Given the description of an element on the screen output the (x, y) to click on. 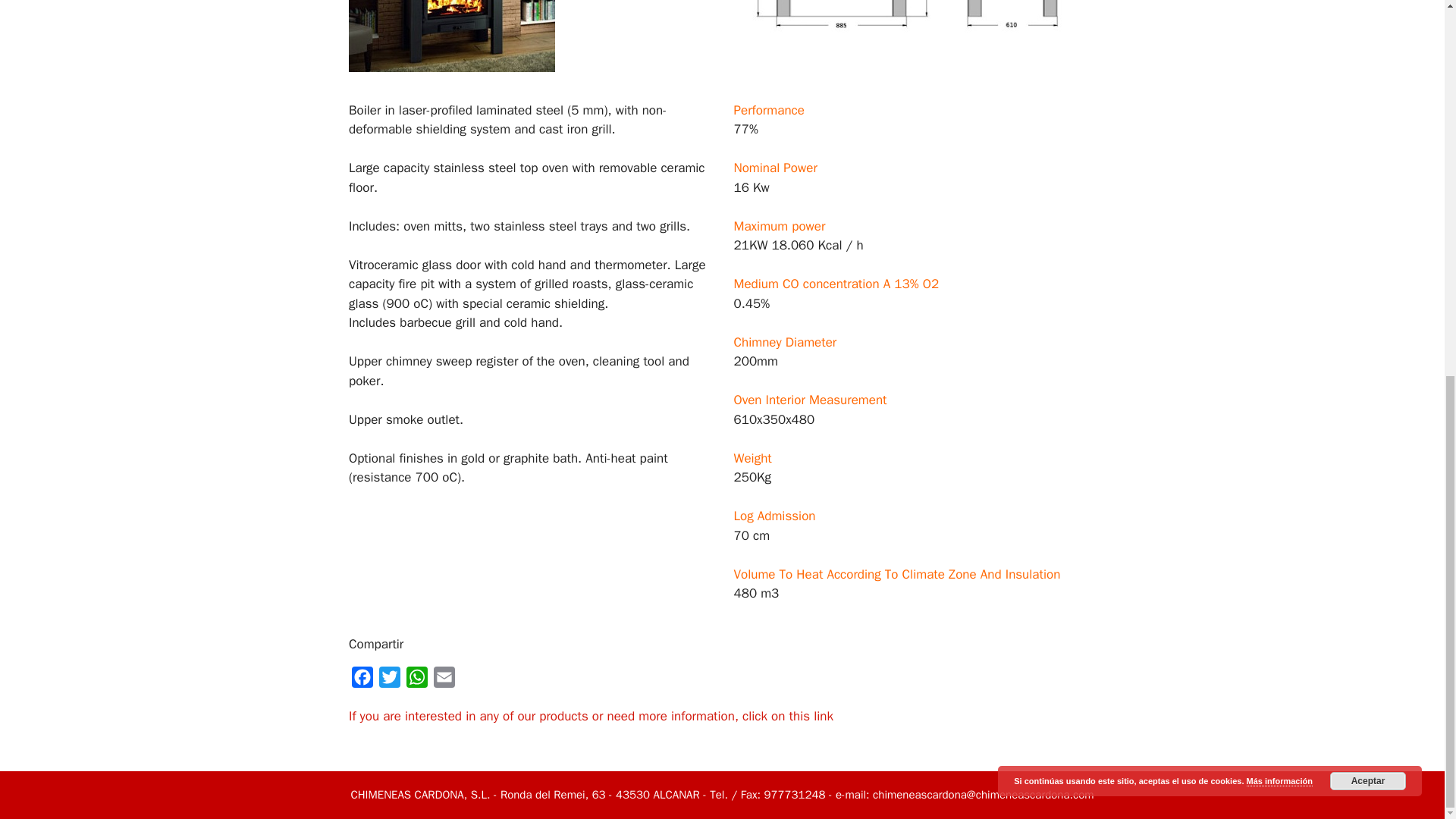
Email (444, 680)
Facebook (362, 680)
Twitter (389, 680)
Twitter (389, 680)
Facebook (362, 680)
WhatsApp (416, 680)
